Given the description of an element on the screen output the (x, y) to click on. 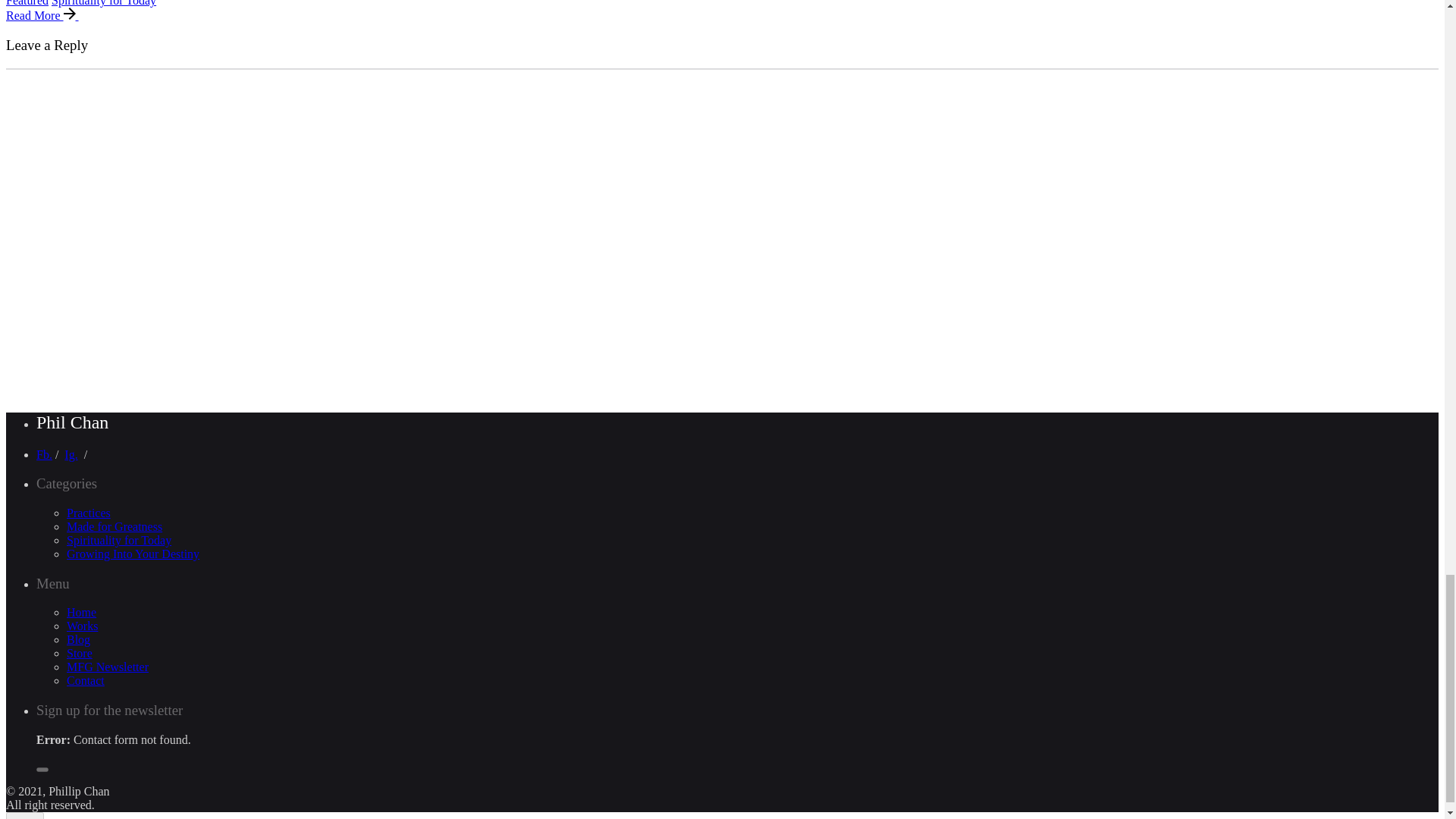
Featured (26, 3)
Made for Greatness (113, 526)
Read More (49, 15)
Spirituality for Today (118, 540)
Practices (88, 512)
Ig. (70, 454)
Spirituality for Today (102, 3)
Fb. (44, 454)
